Given the description of an element on the screen output the (x, y) to click on. 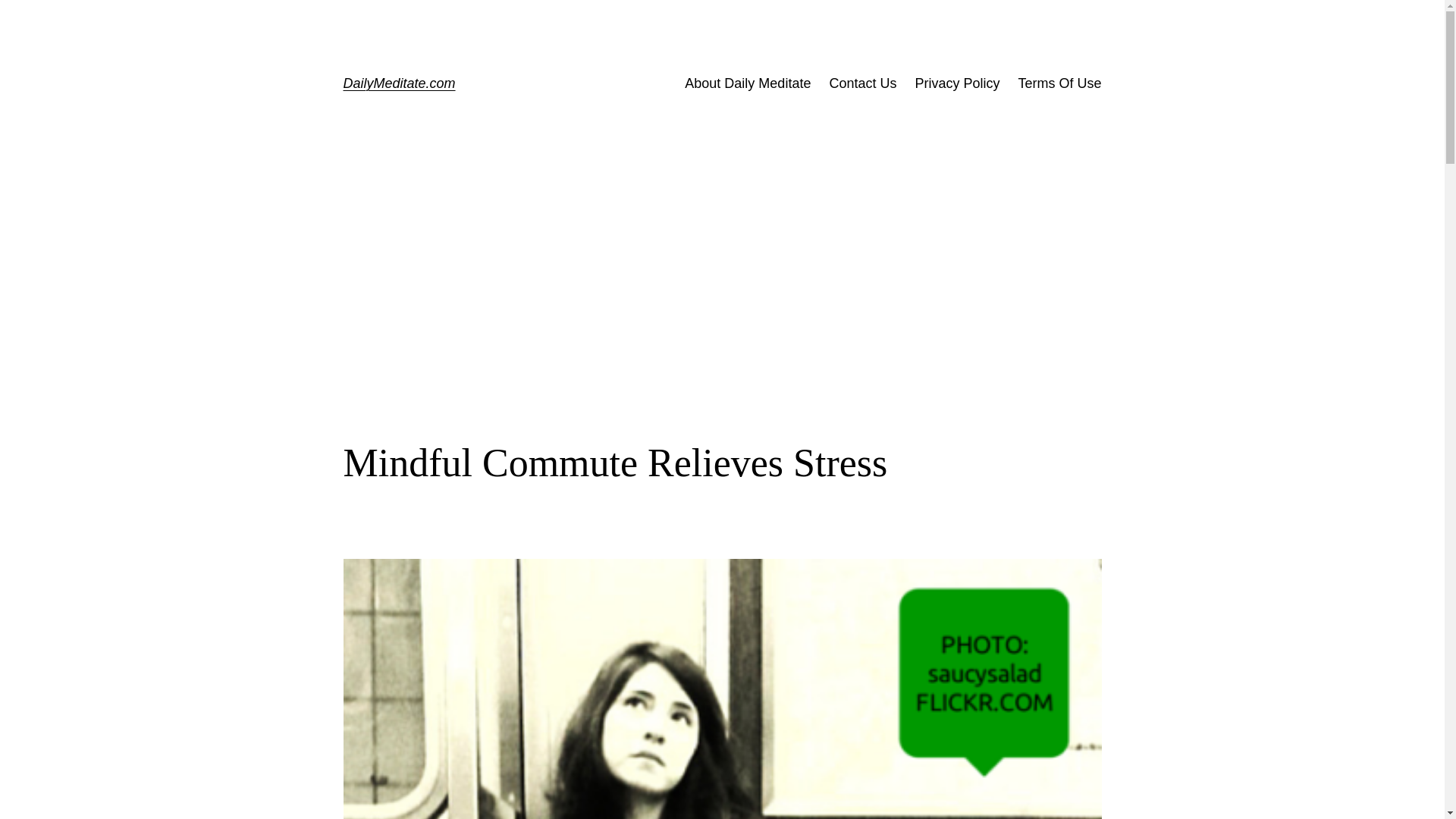
Privacy Policy (956, 83)
Terms Of Use (1058, 83)
About Daily Meditate (747, 83)
DailyMeditate.com (398, 83)
Contact Us (862, 83)
